Given the description of an element on the screen output the (x, y) to click on. 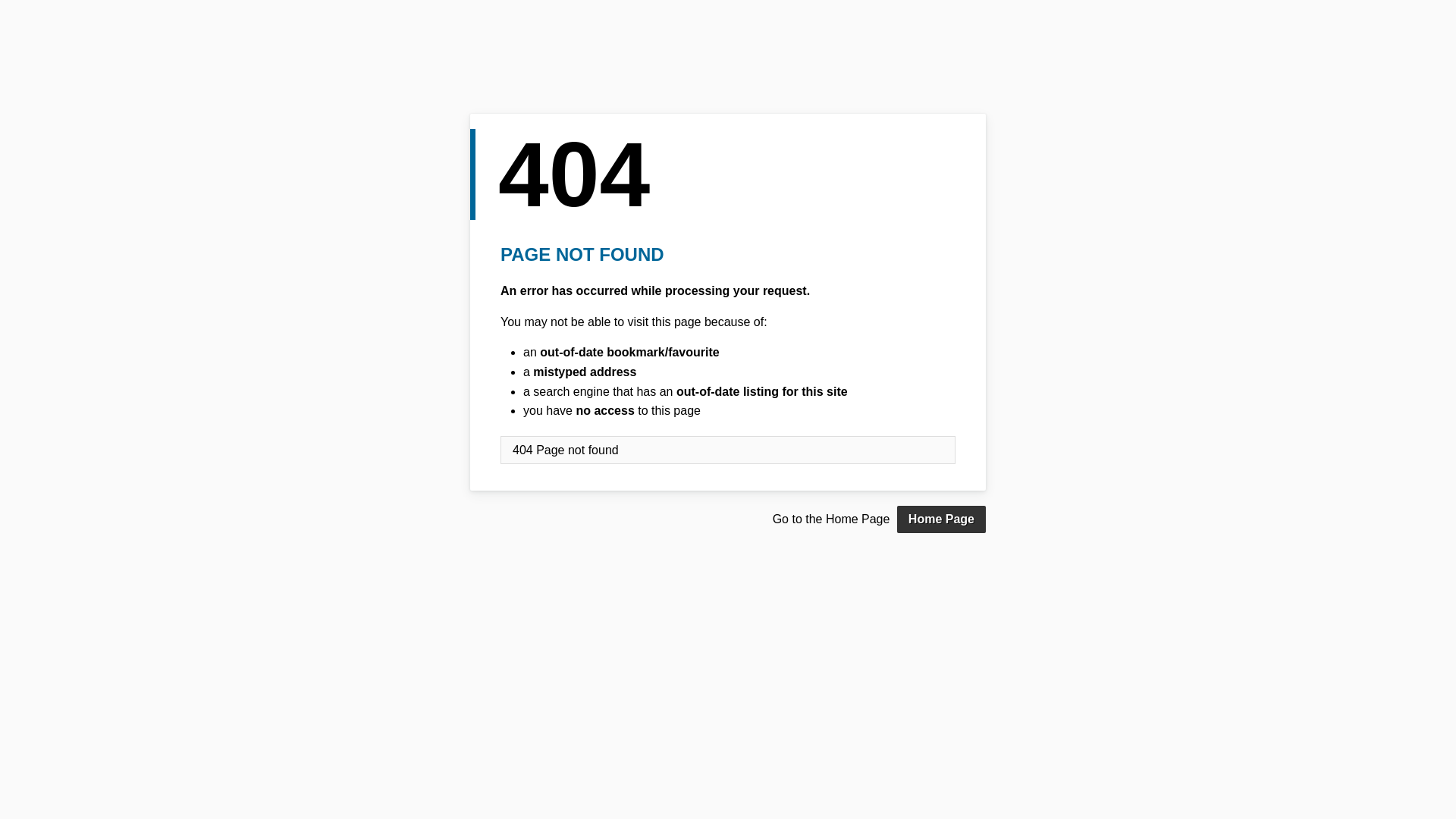
Home Page Element type: text (941, 519)
